Given the description of an element on the screen output the (x, y) to click on. 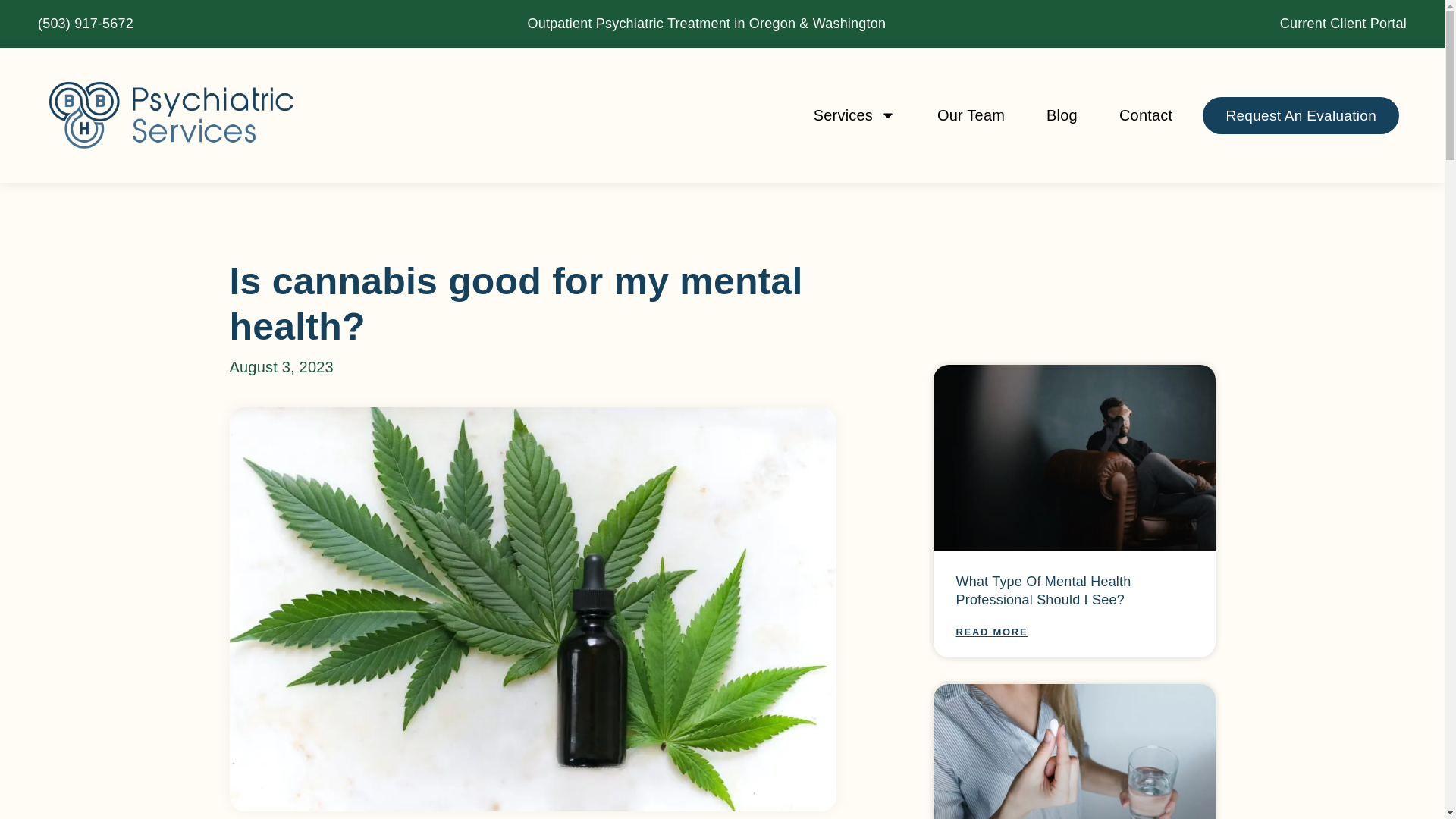
Contact (1145, 115)
Our Team (970, 115)
Request An Evaluation (1300, 115)
READ MORE (991, 632)
Blog (1061, 115)
What Type Of Mental Health Professional Should I See? (1043, 590)
Current Client Portal (1342, 23)
Services (854, 115)
